Given the description of an element on the screen output the (x, y) to click on. 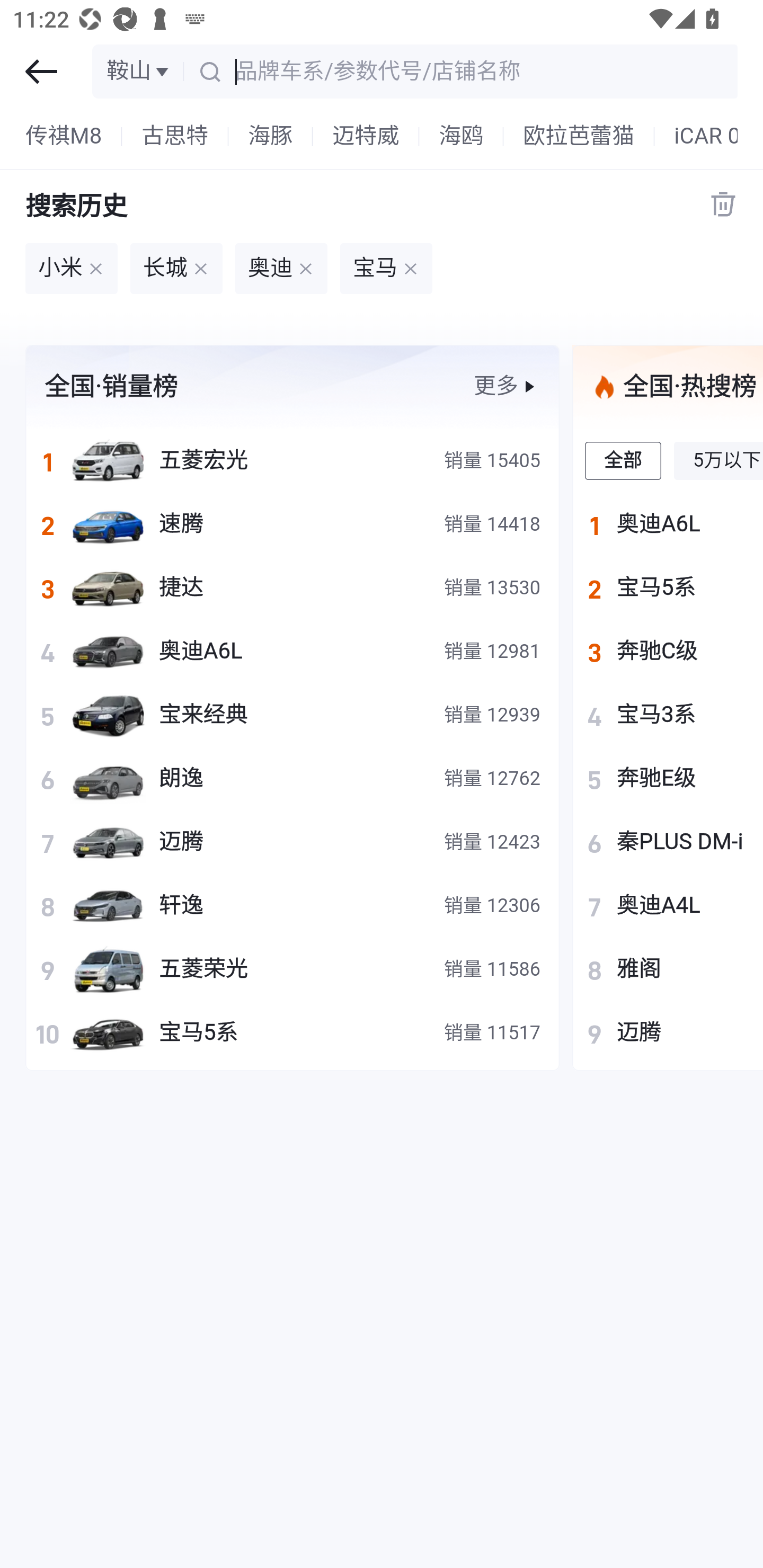
鞍山 (139, 70)
传祺M8 (64, 136)
古思特 (175, 136)
海豚 (270, 136)
迈特威 (365, 136)
海鸥 (461, 136)
欧拉芭蕾猫 (578, 136)
小米 (71, 269)
长城 (176, 269)
奥迪 (281, 269)
宝马 (386, 269)
更多 (506, 386)
1 五菱宏光 销量 15405 (292, 460)
全部 (624, 459)
5万以下 (718, 459)
2 速腾 销量 14418 (292, 523)
1奥迪A6L1.98-54.50万 (667, 523)
3 捷达 销量 13530 (292, 587)
2宝马5系1.80-55.00万 (667, 587)
4 奥迪A6L 销量 12981 (292, 650)
3奔驰C级2.85-33.80万 (667, 650)
5 宝来经典 销量 12939 (292, 714)
4宝马3系1.65-33.58万 (667, 714)
6 朗逸 销量 12762 (292, 777)
5奔驰E级2.67-58.80万 (667, 777)
7 迈腾 销量 12423 (292, 841)
6秦PLUS DM-i5.90-12.98万 (667, 841)
8 轩逸 销量 12306 (292, 904)
7奥迪A4L2.68-32.30万 (667, 904)
9 五菱荣光 销量 11586 (292, 968)
8雅阁1.08-19.80万 (667, 968)
10 宝马5系 销量 11517 (292, 1032)
9迈腾1.18-21.38万 (667, 1032)
